Given the description of an element on the screen output the (x, y) to click on. 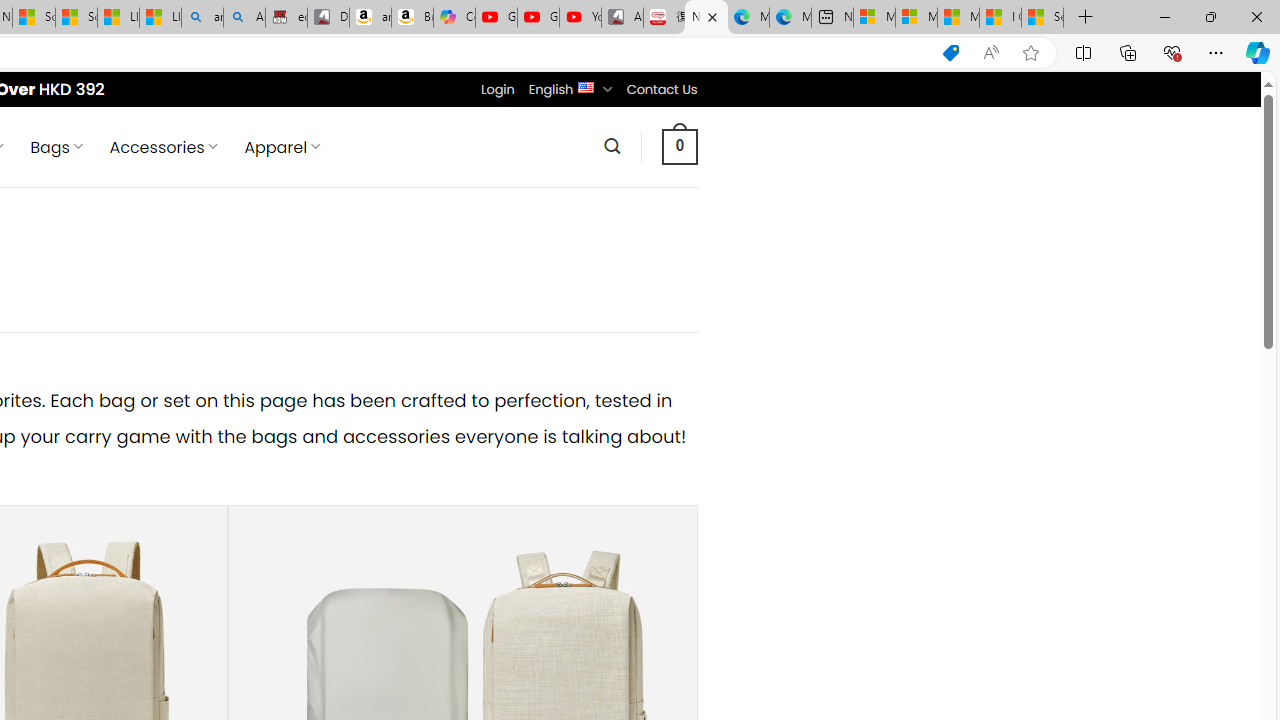
  0   (679, 146)
